Given the description of an element on the screen output the (x, y) to click on. 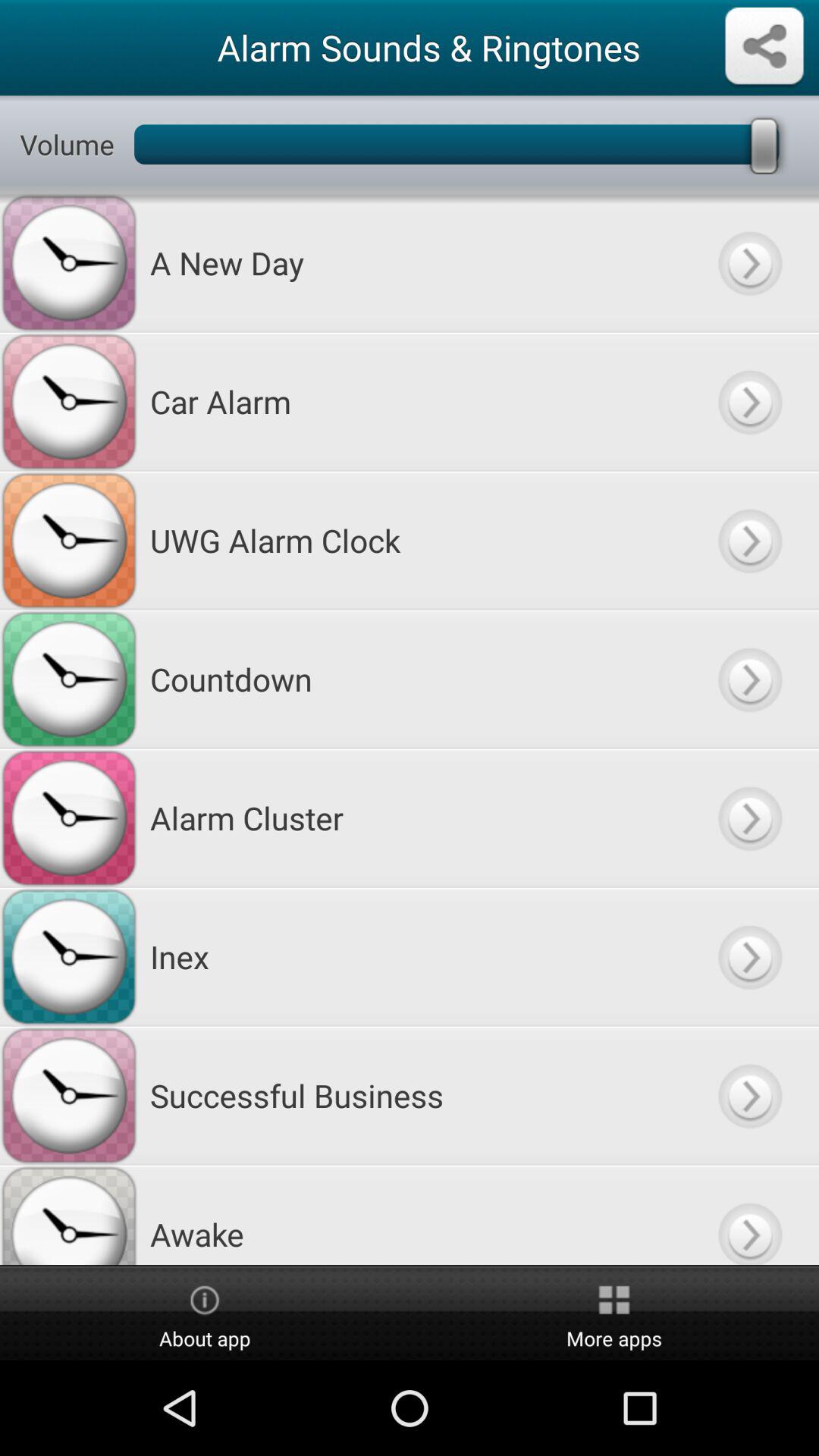
next (749, 818)
